Given the description of an element on the screen output the (x, y) to click on. 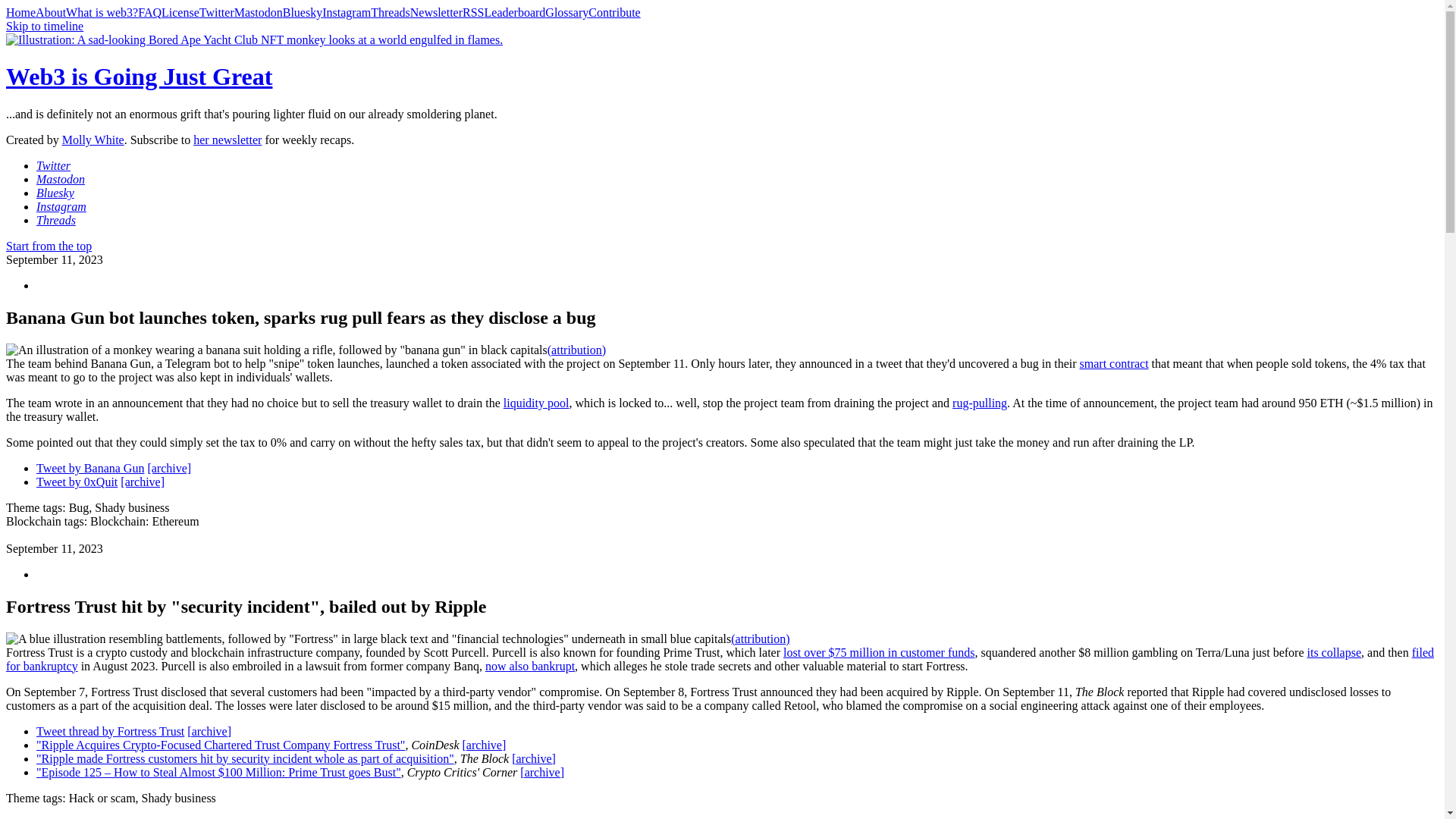
Glossary (566, 11)
FAQ (149, 11)
her newsletter (227, 139)
Leaderboard (513, 11)
RSS (473, 11)
Mastodon (60, 178)
Bluesky (55, 192)
About (49, 11)
liquidity pool (536, 402)
Tweet by Banana Gun (90, 468)
Bluesky (301, 11)
Contribute (614, 11)
What is web3? (101, 11)
Instagram (346, 11)
